Given the description of an element on the screen output the (x, y) to click on. 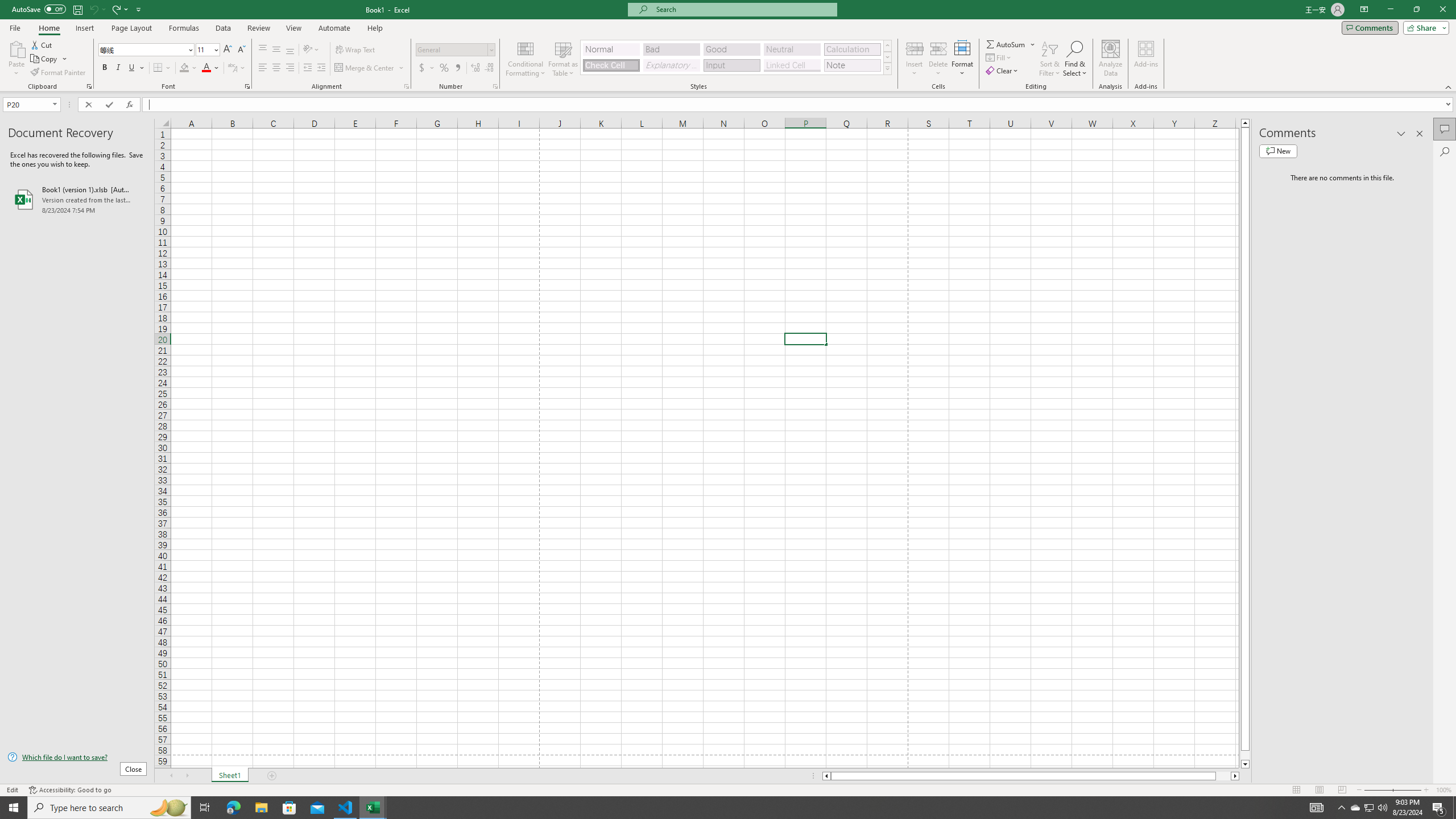
Paste (16, 48)
Column left (826, 775)
Number Format (455, 49)
Microsoft search (742, 9)
Font Size (207, 49)
Insert (914, 58)
Ribbon Display Options (1364, 9)
Decrease Decimal (489, 67)
Find & Select (1075, 58)
Zoom In (1426, 790)
Normal (1296, 790)
Number Format (451, 49)
Align Left (262, 67)
Class: NetUIImage (887, 68)
